Given the description of an element on the screen output the (x, y) to click on. 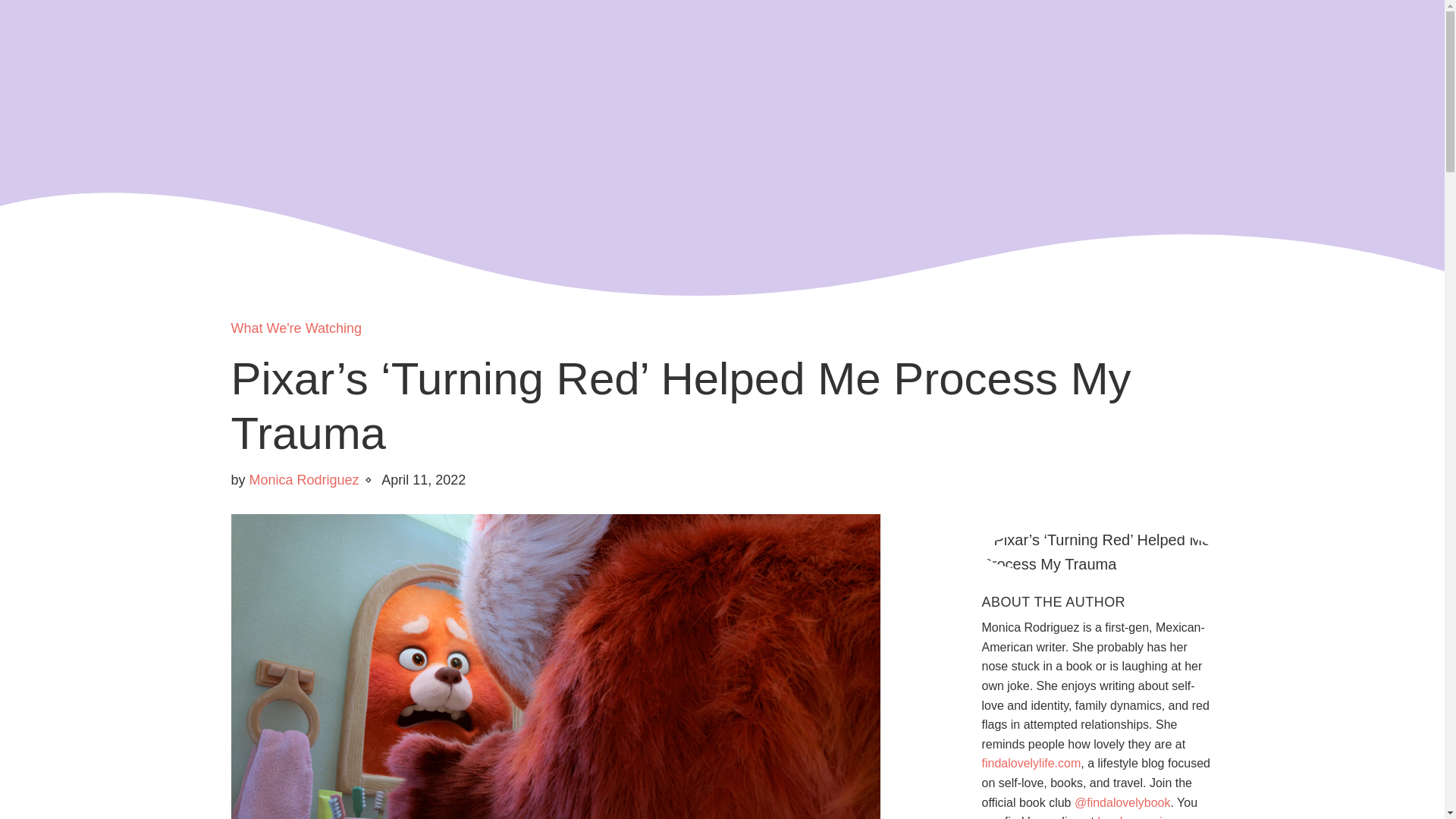
Monica Rodriguez (303, 479)
findalovelylife.com (1030, 762)
What We're Watching (295, 328)
